Given the description of an element on the screen output the (x, y) to click on. 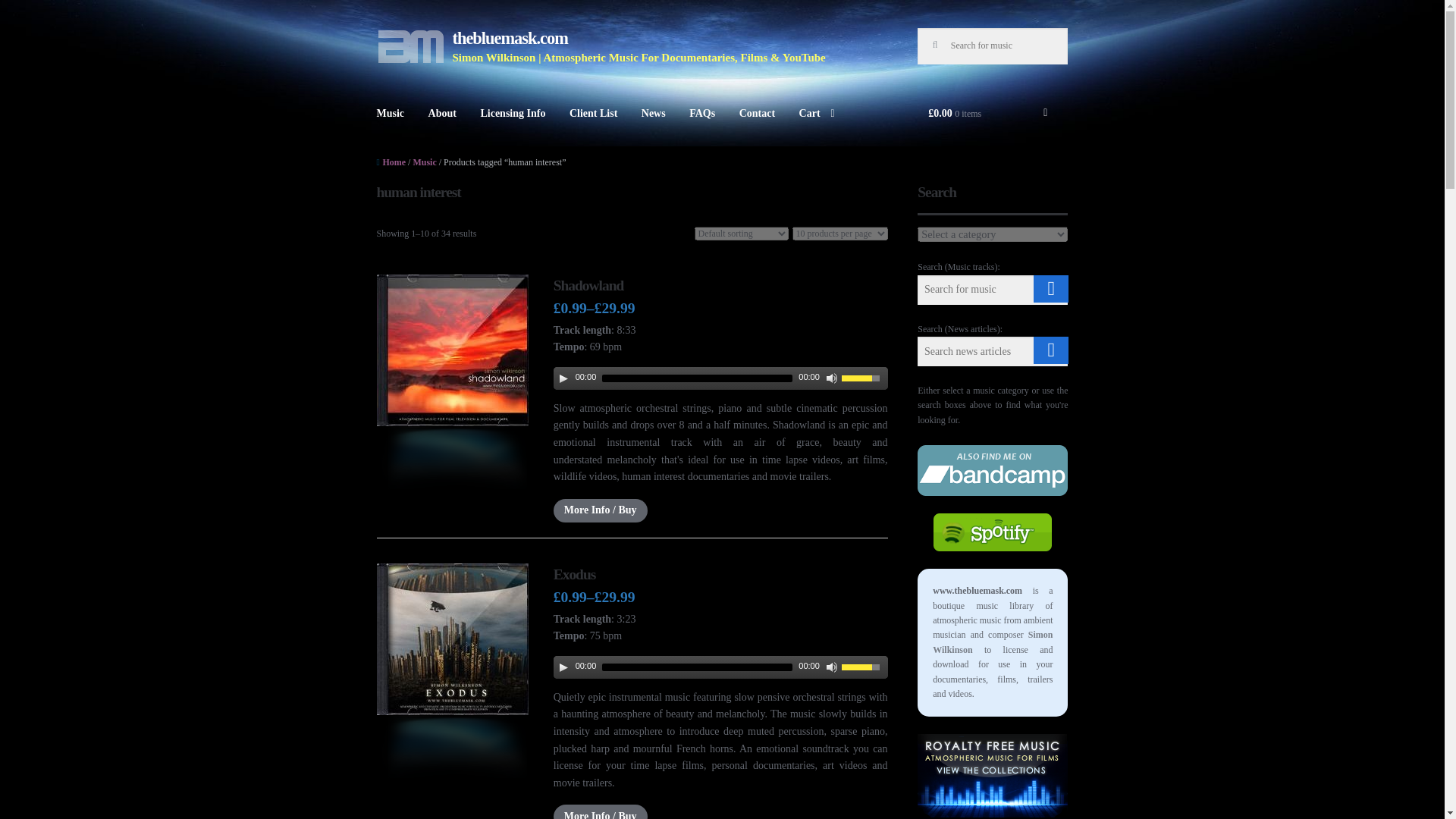
thebluemask.com (509, 37)
FAQs (701, 125)
Licensing Info (512, 125)
FAQs (701, 125)
Contact (757, 125)
Search (22, 10)
Client List (593, 125)
thebluemask.com (411, 46)
Cart (817, 125)
Music (390, 125)
About composer Simon Wilkinson (442, 125)
Skip to content (411, 36)
Skip to navigation (418, 36)
Licensing Info (512, 125)
View your shopping cart (992, 125)
